Given the description of an element on the screen output the (x, y) to click on. 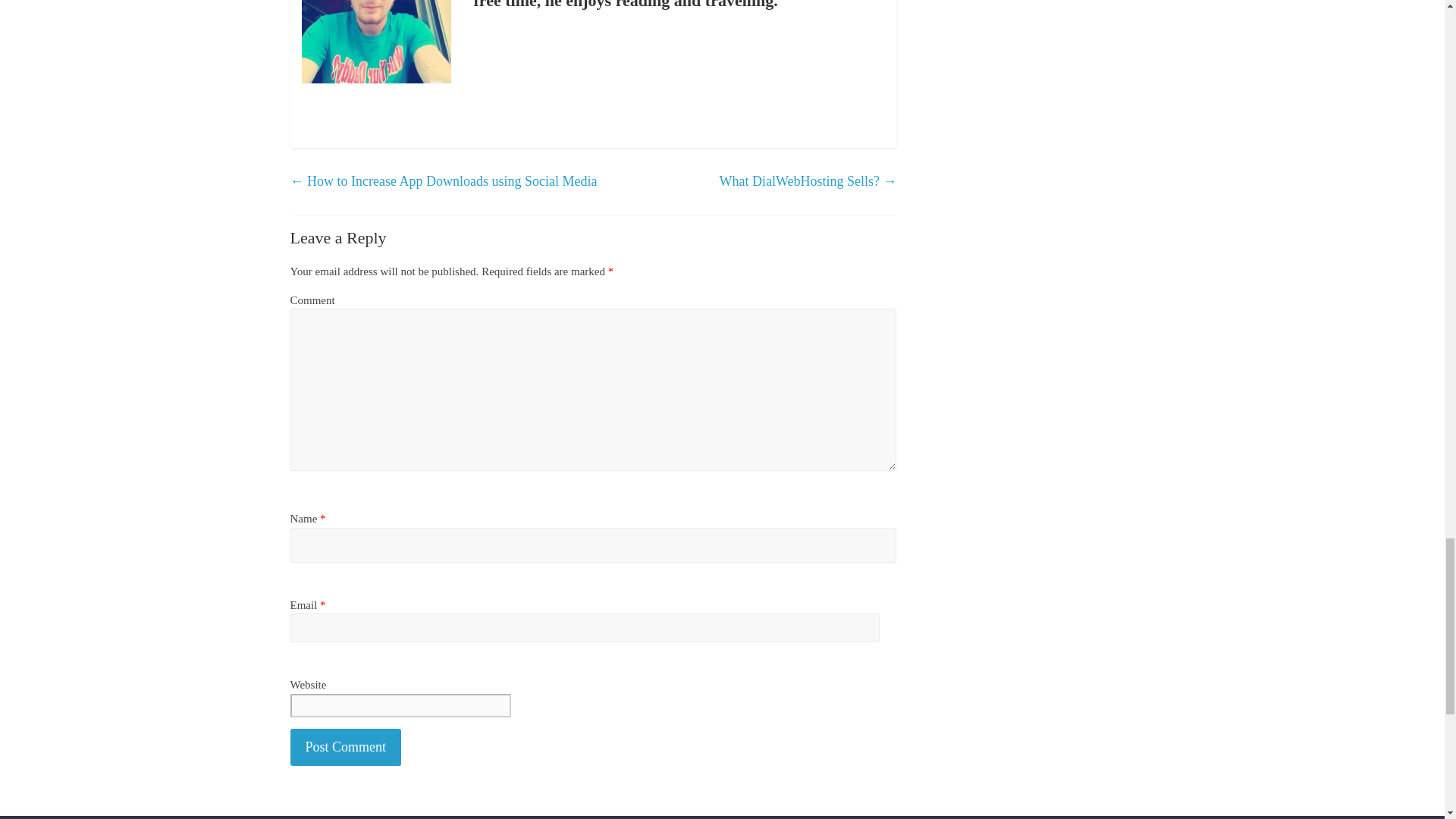
Share on Facebook (318, 105)
Share on Twitter (357, 105)
Post Comment (345, 746)
Share on Linkedin (438, 105)
